Given the description of an element on the screen output the (x, y) to click on. 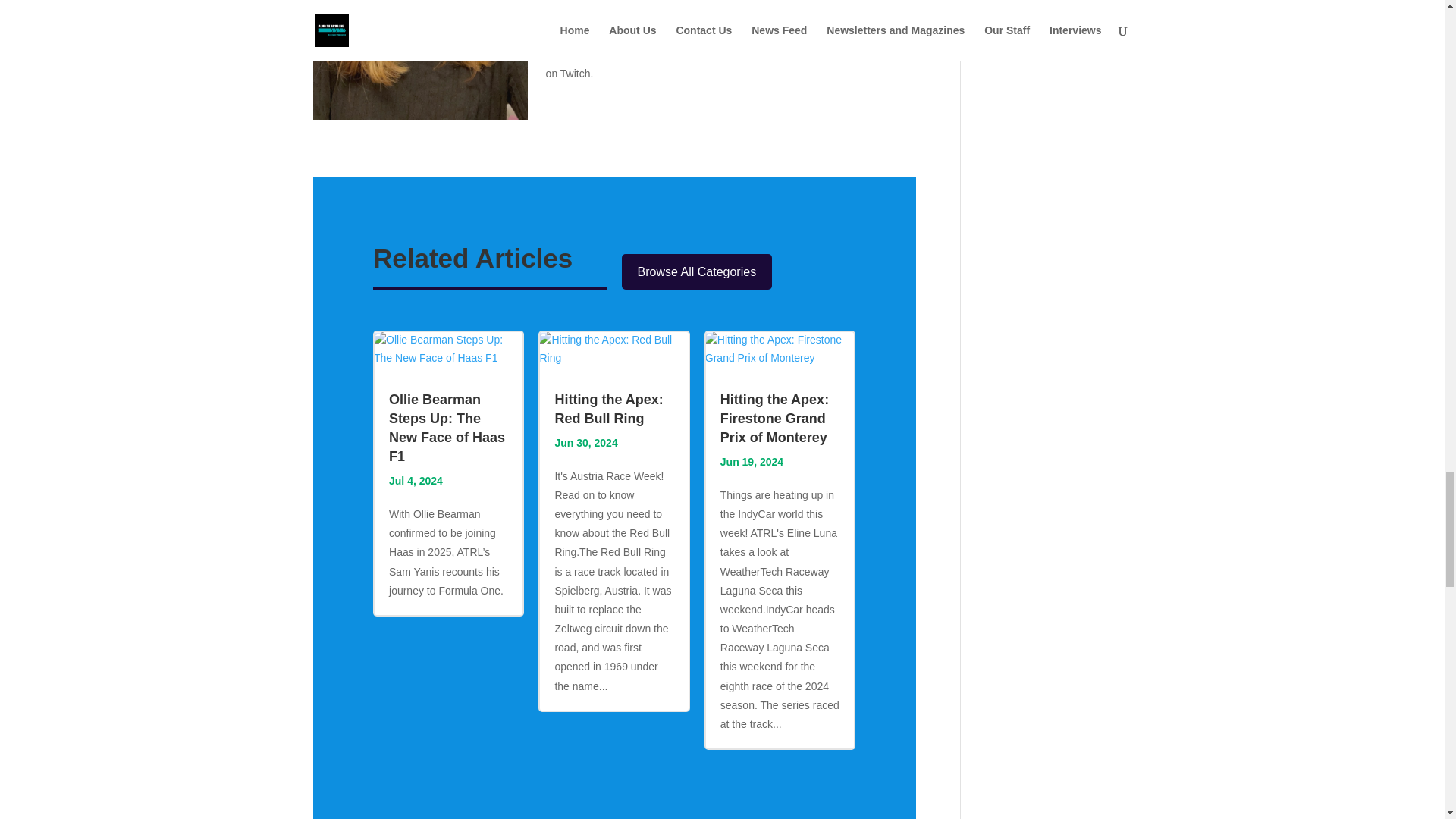
Ollie Bearman Steps Up: The New Face of Haas F1 (446, 428)
Hitting the Apex: Red Bull Ring (608, 408)
Hitting the Apex: Firestone Grand Prix of Monterey (774, 418)
Mees 2022 (420, 59)
Browse All Categories (697, 271)
